Given the description of an element on the screen output the (x, y) to click on. 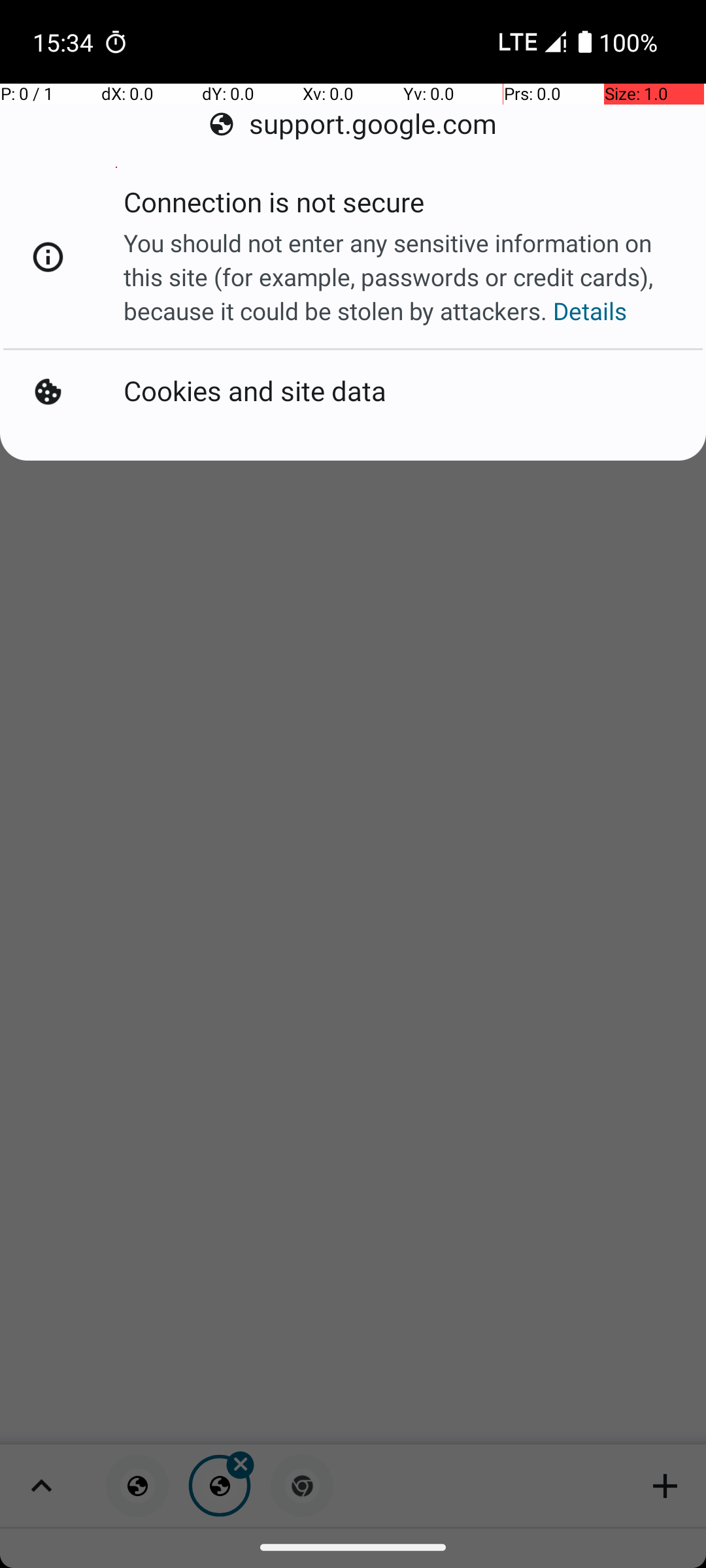
support.google.com Element type: android.widget.TextView (352, 124)
